Given the description of an element on the screen output the (x, y) to click on. 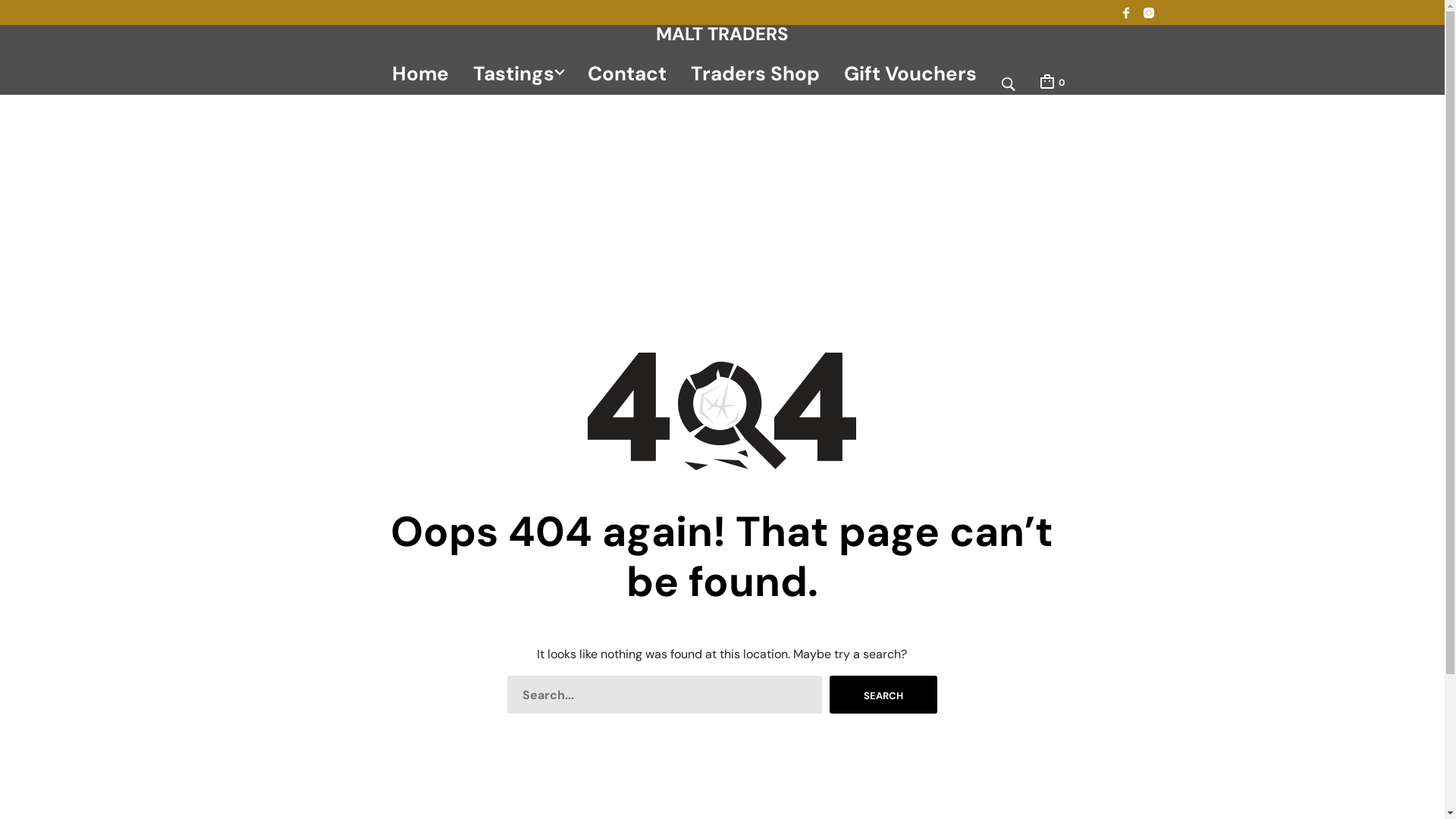
MALT TRADERS Element type: text (721, 34)
0 Element type: text (1051, 81)
Search Element type: text (883, 694)
Gift Vouchers Element type: text (910, 73)
Home Element type: text (420, 73)
Traders Shop Element type: text (755, 73)
Search Element type: text (985, 393)
Contact Element type: text (626, 73)
Tastings Element type: text (512, 73)
